Given the description of an element on the screen output the (x, y) to click on. 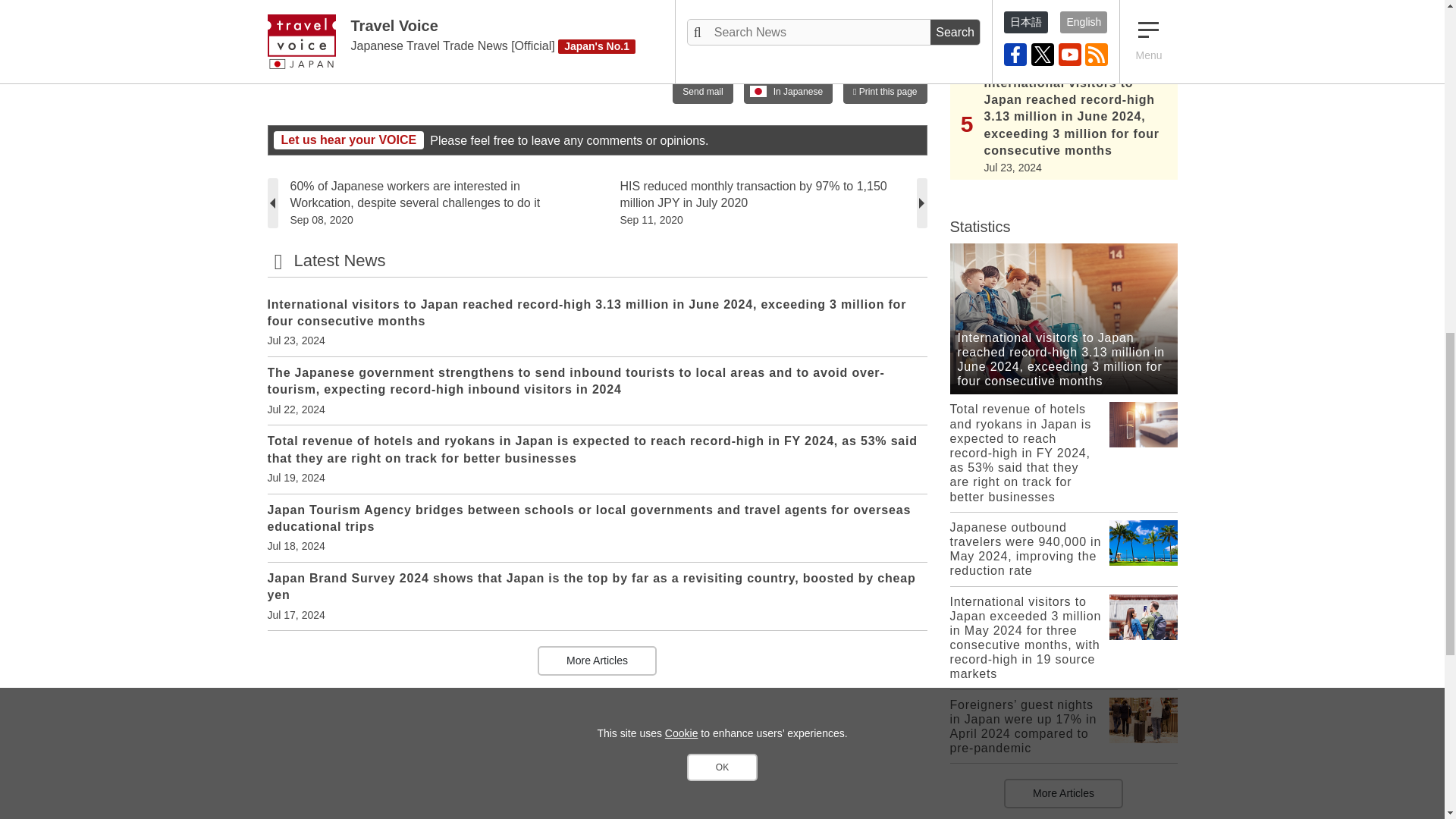
Print this page (884, 91)
In Japanese (788, 91)
Send mail (702, 91)
